Given the description of an element on the screen output the (x, y) to click on. 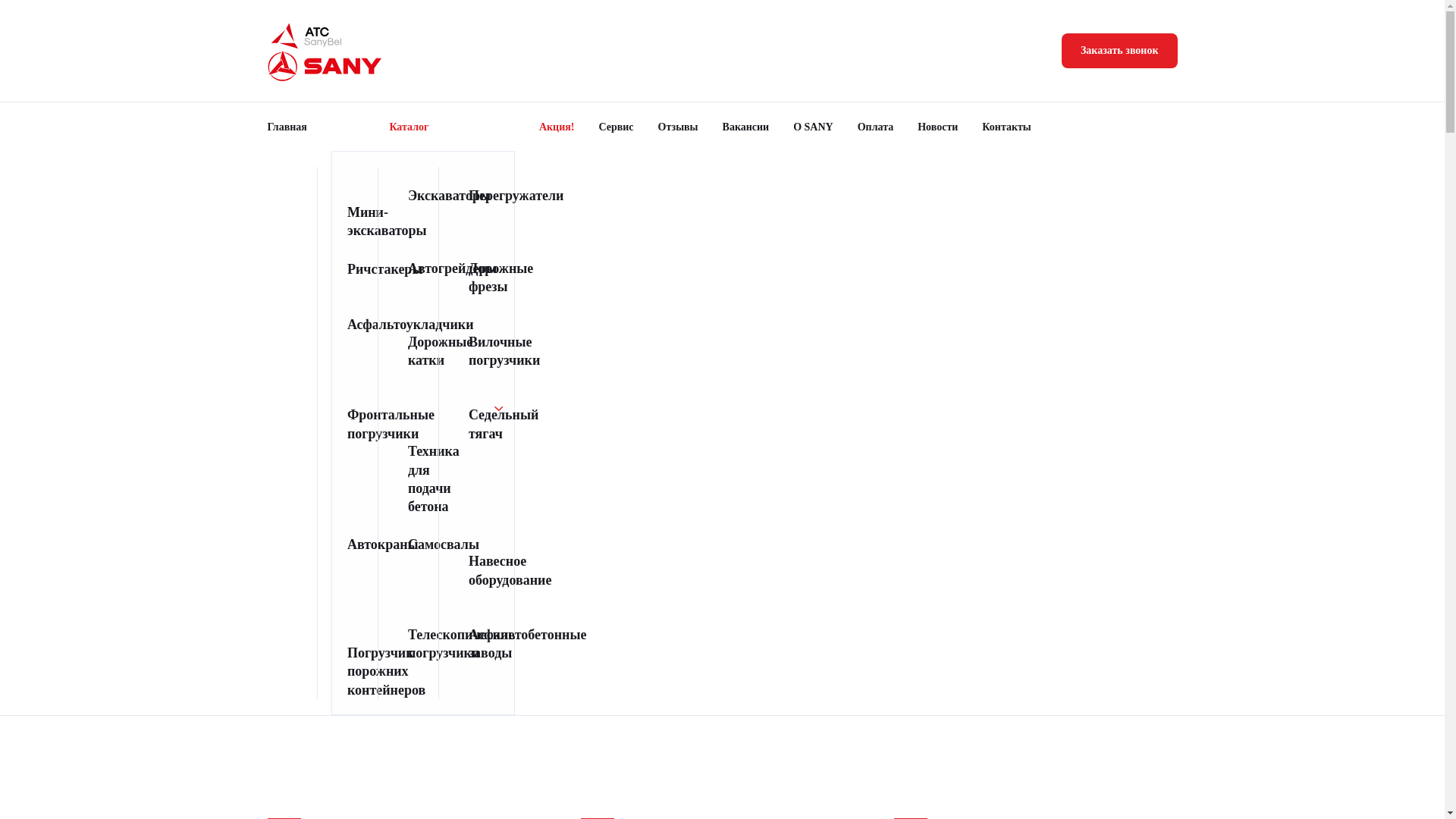
Sany Element type: hover (324, 65)
